Given the description of an element on the screen output the (x, y) to click on. 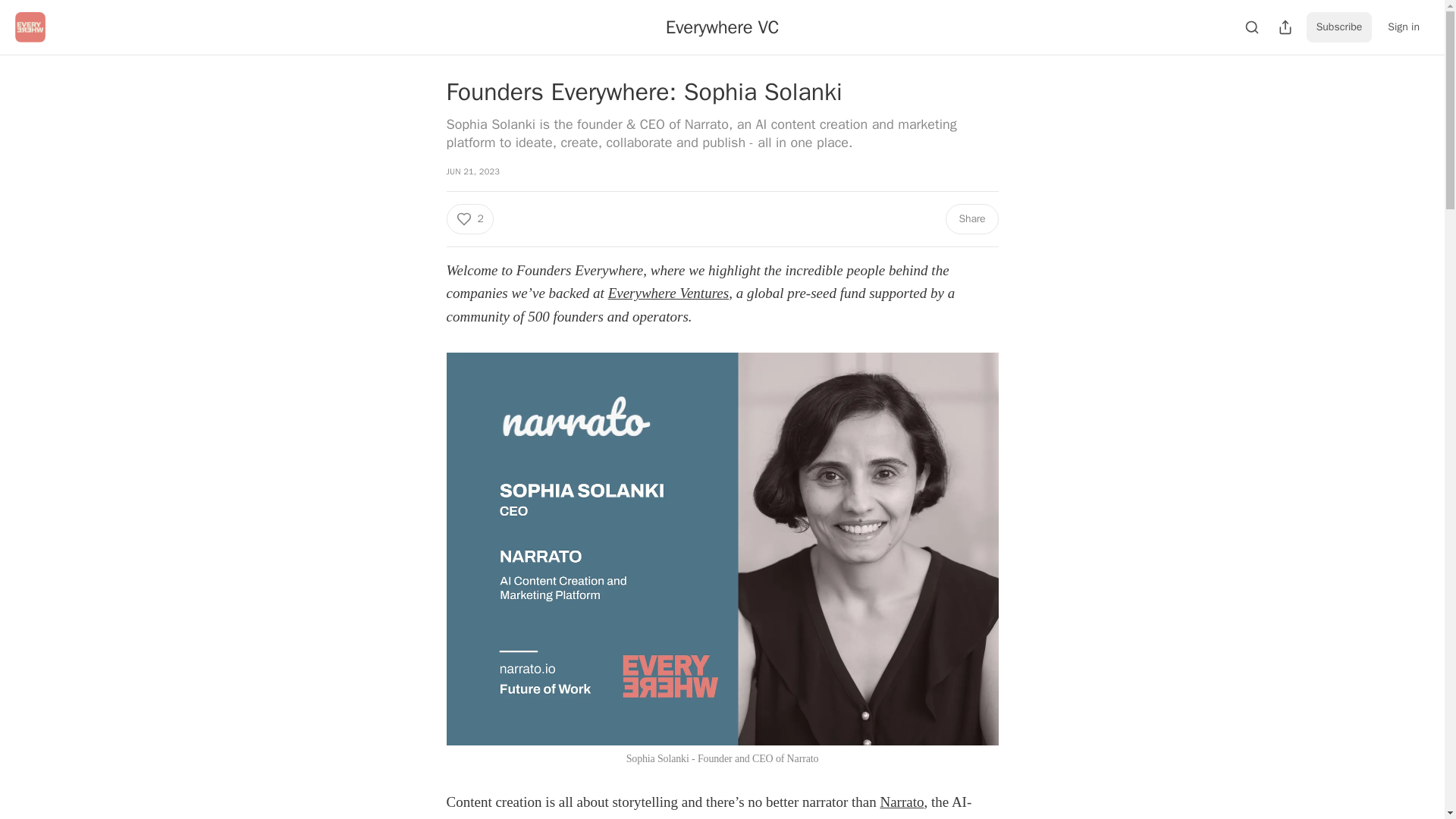
2 (469, 218)
Sign in (1403, 27)
Subscribe (1339, 27)
Share (970, 218)
Everywhere VC (721, 26)
Everywhere Ventures (668, 293)
Narrato (901, 801)
